Given the description of an element on the screen output the (x, y) to click on. 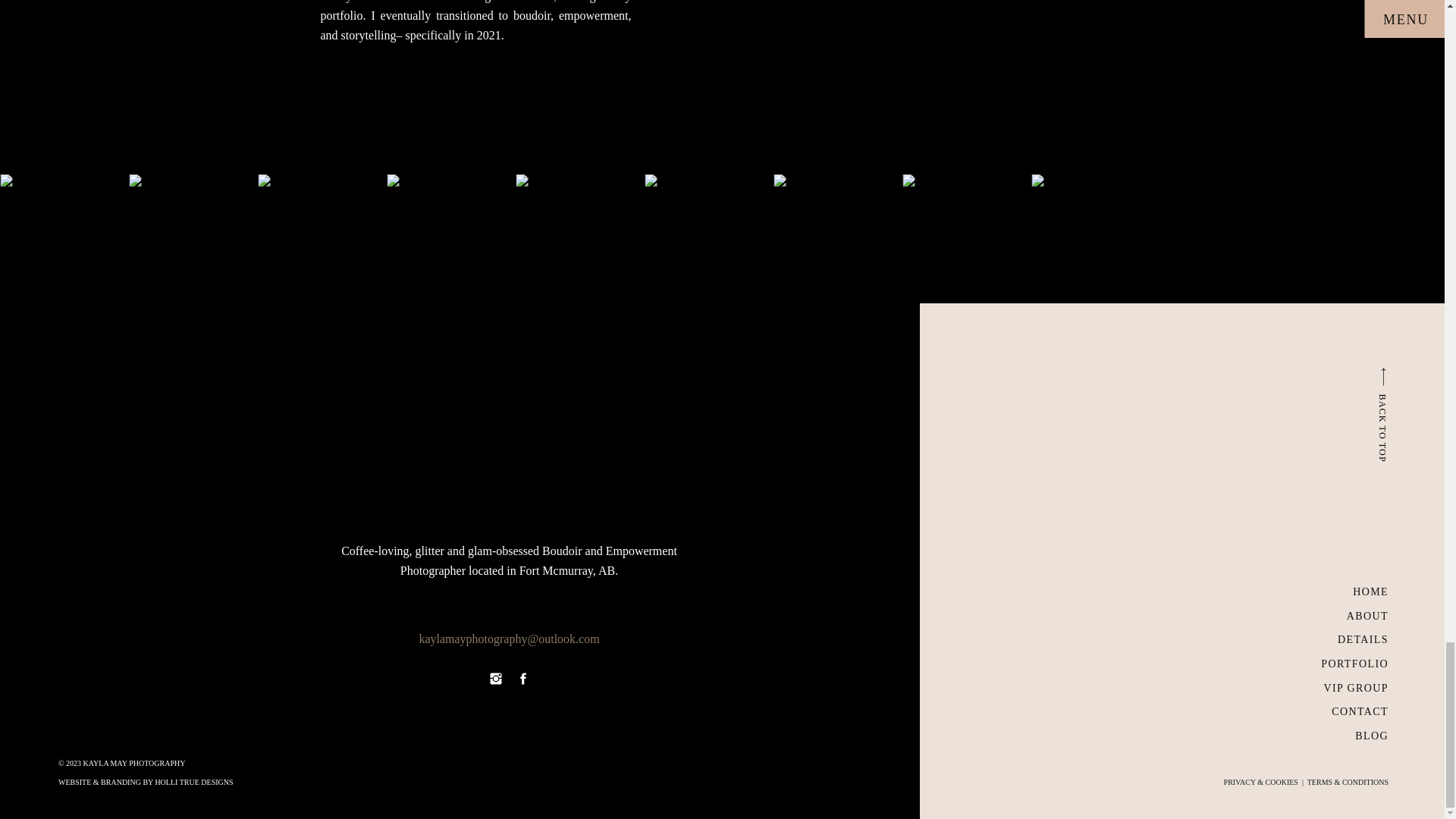
ABOUT (1361, 615)
VIP GROUP (1349, 687)
CONTACT (1355, 711)
PORTFOLIO (1346, 663)
Ralene-Fort McMurray-Boudoir-Kayla May Photography-5013 (322, 238)
Car-Boudoir-Fort McMurray-Alberta-Kayla May Photography-4764 (193, 238)
